Given the description of an element on the screen output the (x, y) to click on. 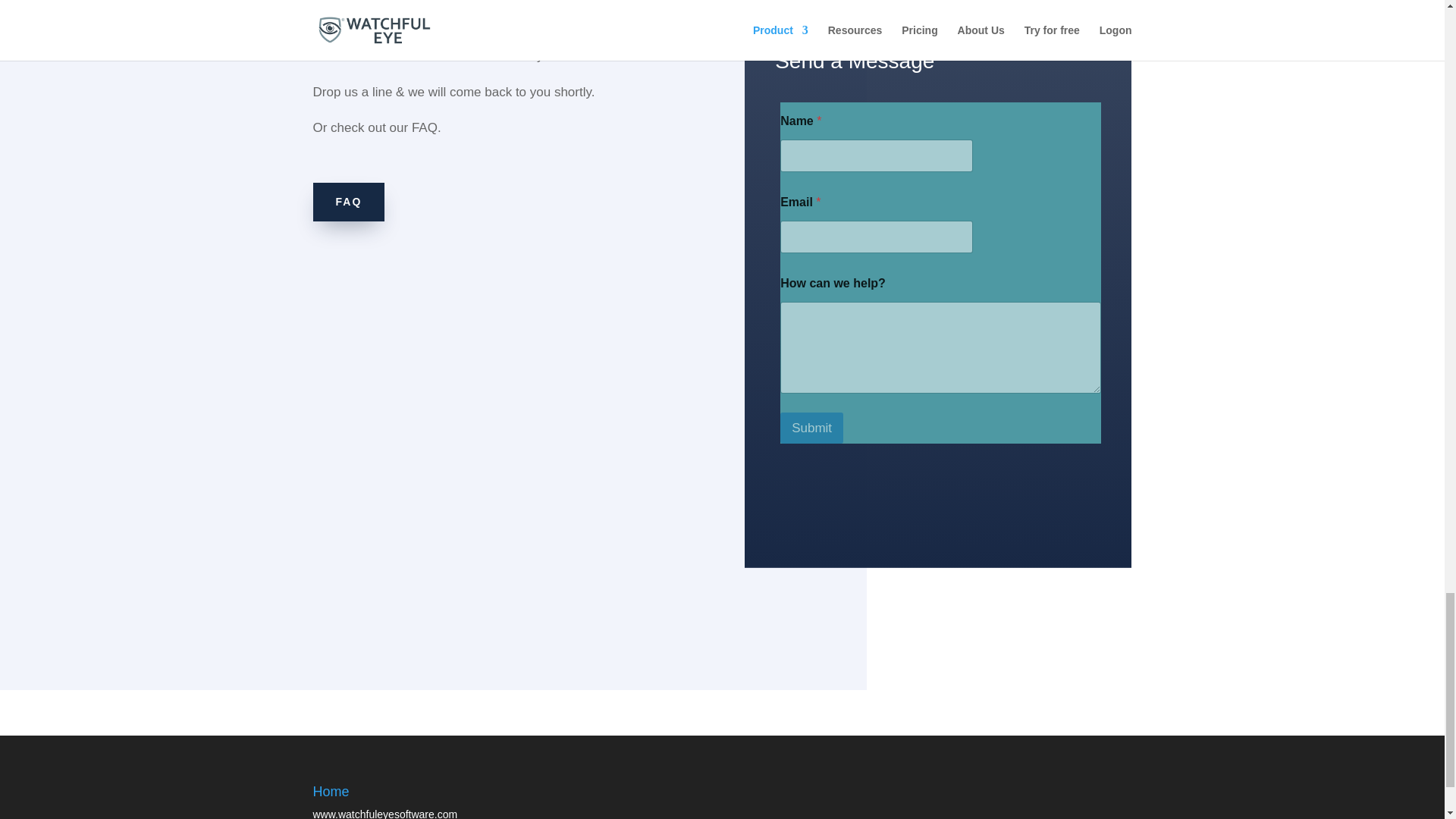
Submit (811, 427)
FAQ (348, 201)
www.watchfuleyesoftware.com (385, 813)
